Given the description of an element on the screen output the (x, y) to click on. 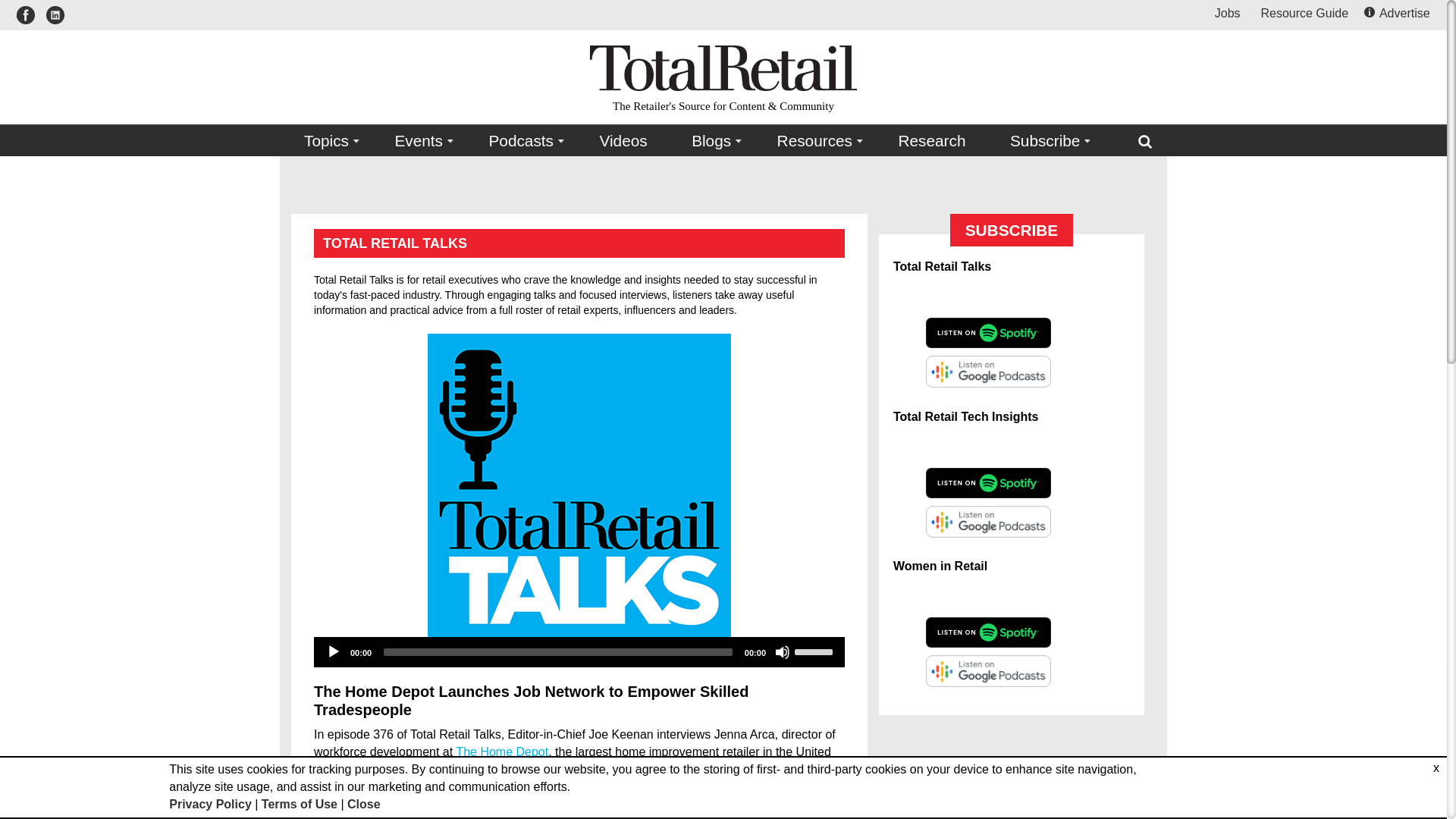
Mute (782, 652)
Opens in a new window (29, 14)
Opens in a new window (986, 295)
Opens in a new window (55, 14)
Opens in a new window (986, 332)
Events (418, 141)
Advertise (1398, 12)
Opens in a new window (986, 369)
Opens in a new window (1304, 12)
Podcasts (521, 141)
